Given the description of an element on the screen output the (x, y) to click on. 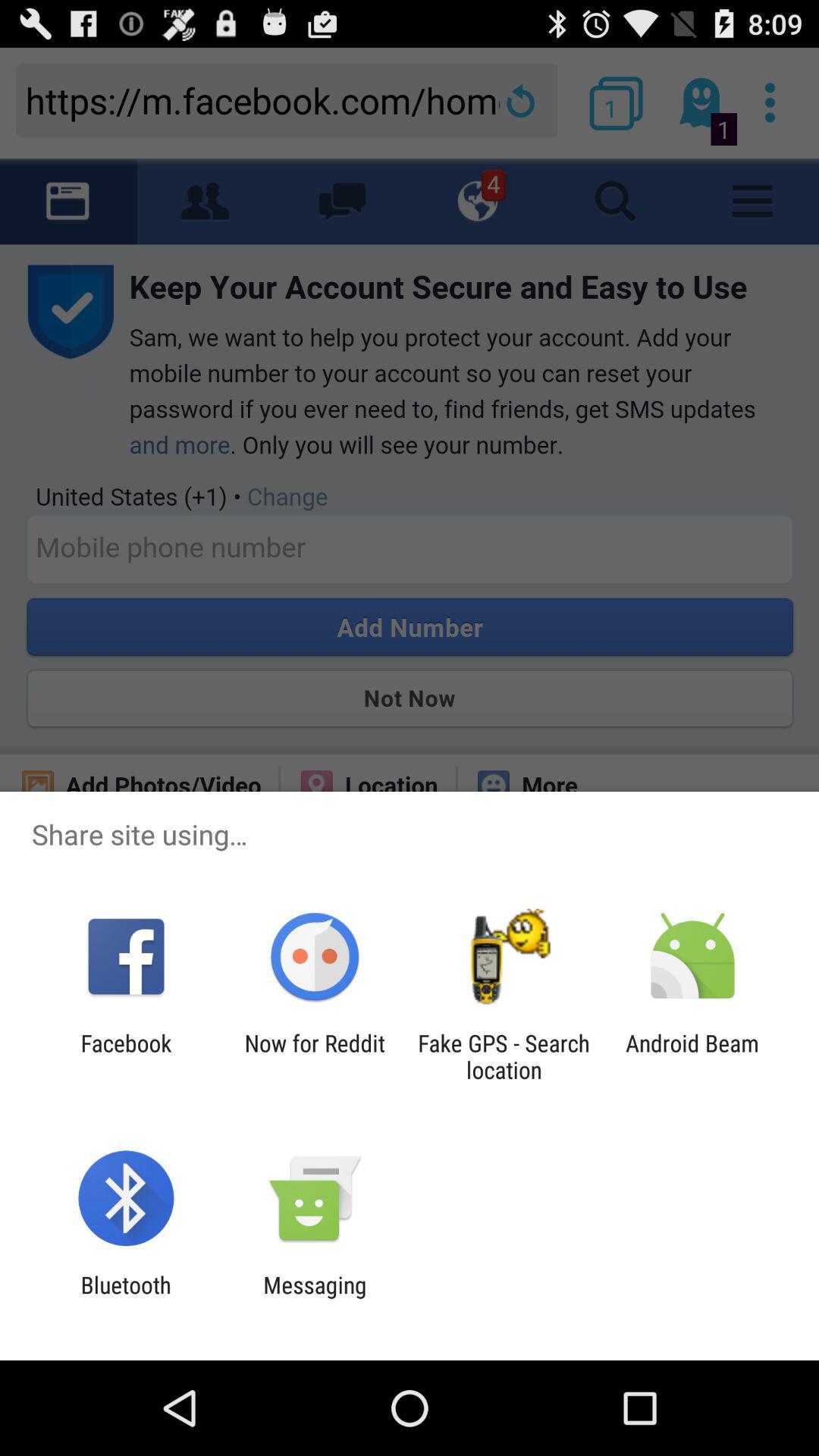
click the app to the left of the android beam icon (503, 1056)
